Given the description of an element on the screen output the (x, y) to click on. 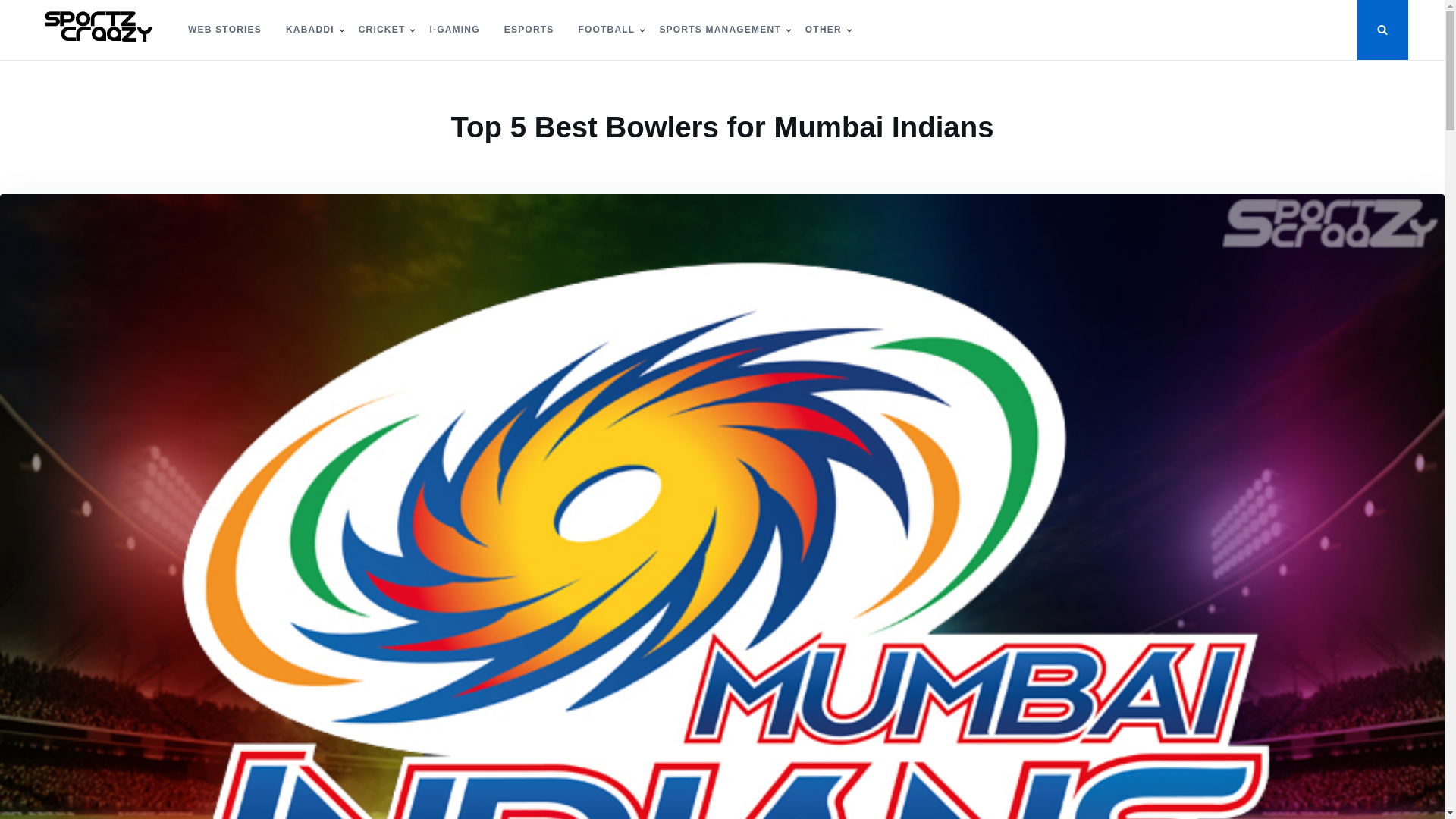
Sportzcraazy (92, 72)
WEB STORIES (224, 29)
KABADDI (309, 29)
